Given the description of an element on the screen output the (x, y) to click on. 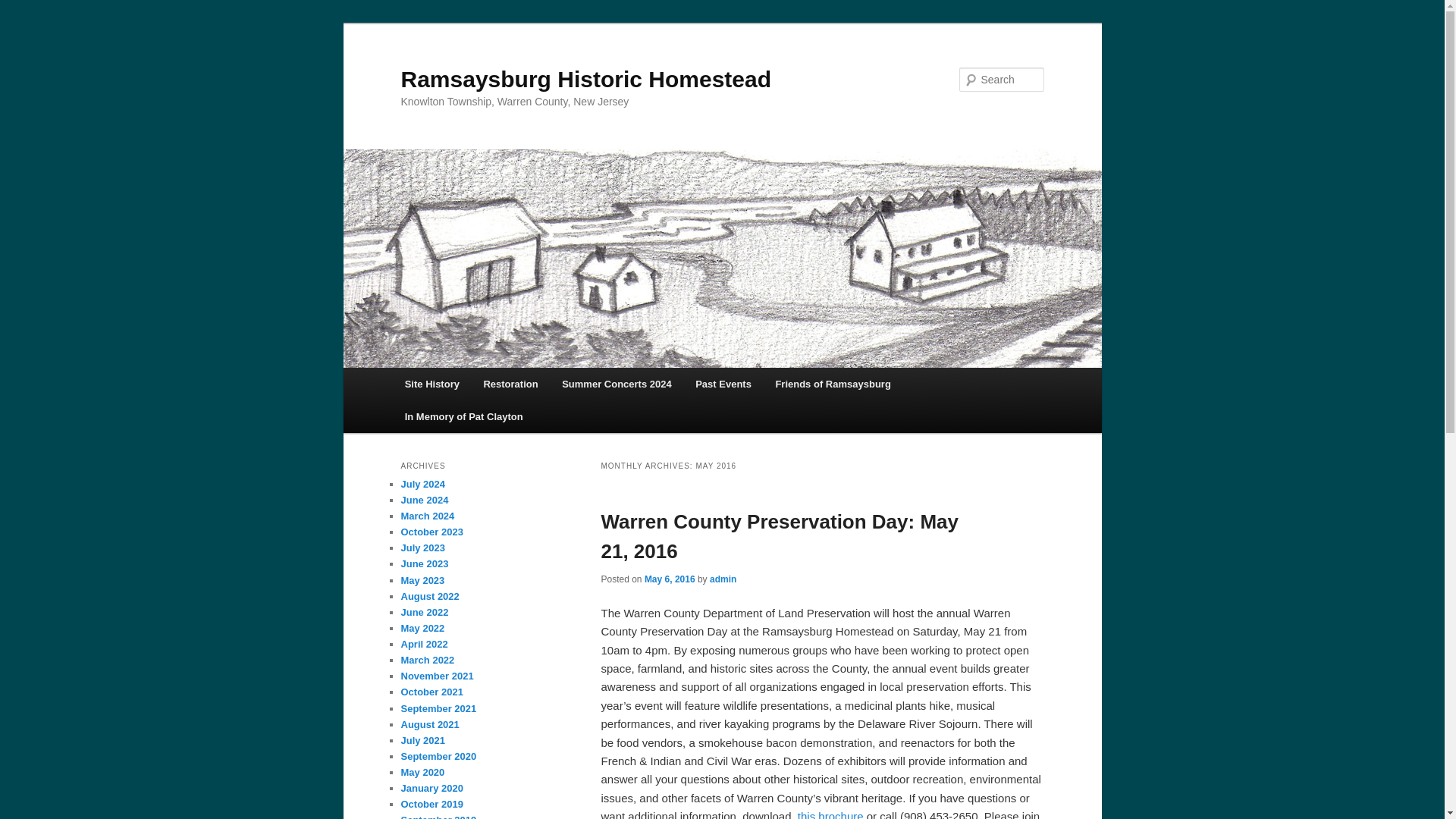
March 2022 (427, 659)
August 2022 (429, 595)
October 2021 (431, 691)
Site History (432, 383)
June 2024 (424, 500)
this brochure (830, 814)
Ramsaysburg Historic Homestead (585, 78)
Past Events (722, 383)
Summer Concerts 2024 (616, 383)
Search (24, 8)
View all posts by admin (723, 579)
October 2023 (431, 531)
Friends of Ramsaysburg (832, 383)
June 2023 (424, 563)
